Given the description of an element on the screen output the (x, y) to click on. 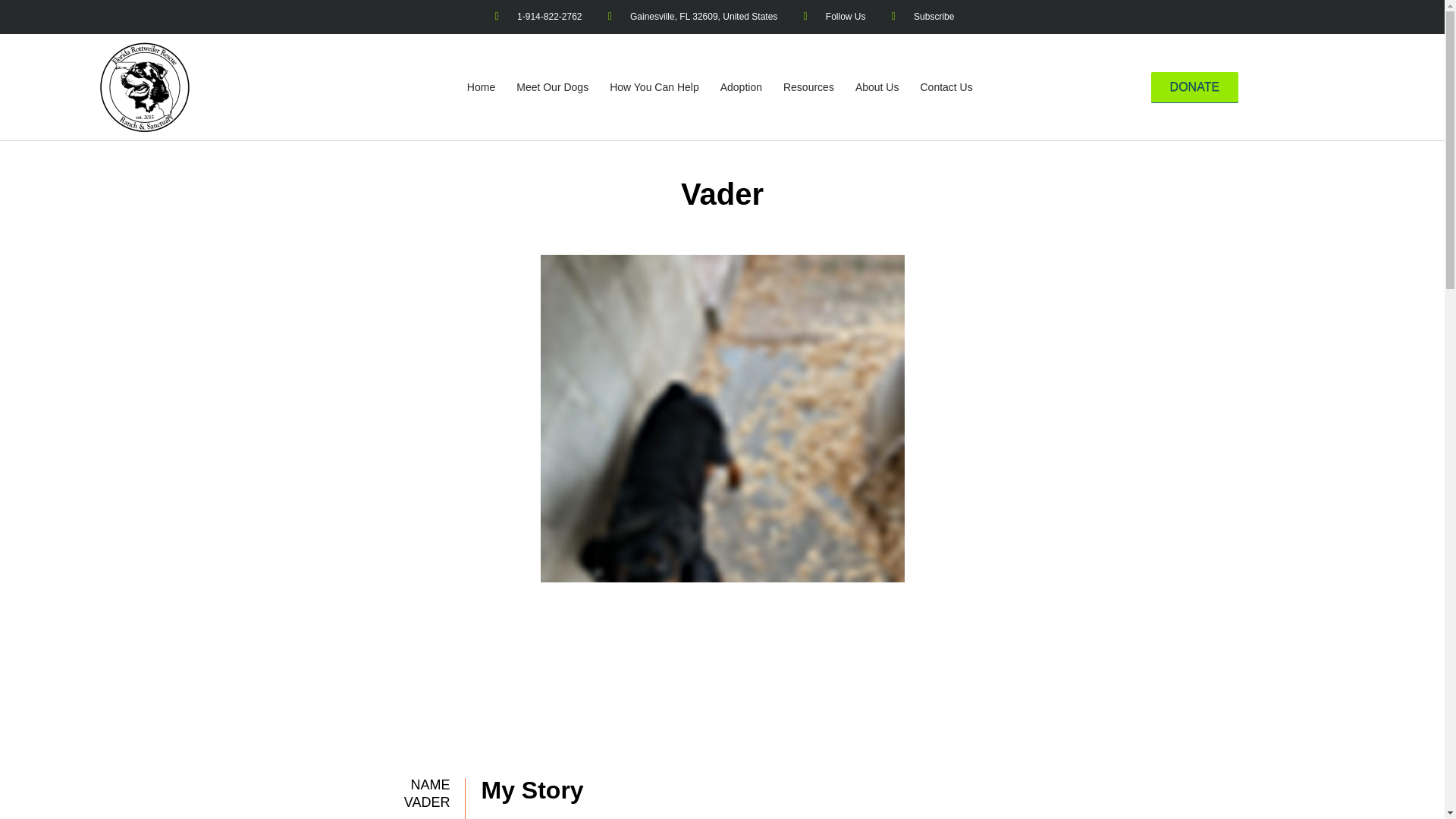
Subscribe (920, 16)
1-914-822-2762 (536, 16)
Follow Us (830, 16)
How You Can Help (654, 87)
